Given the description of an element on the screen output the (x, y) to click on. 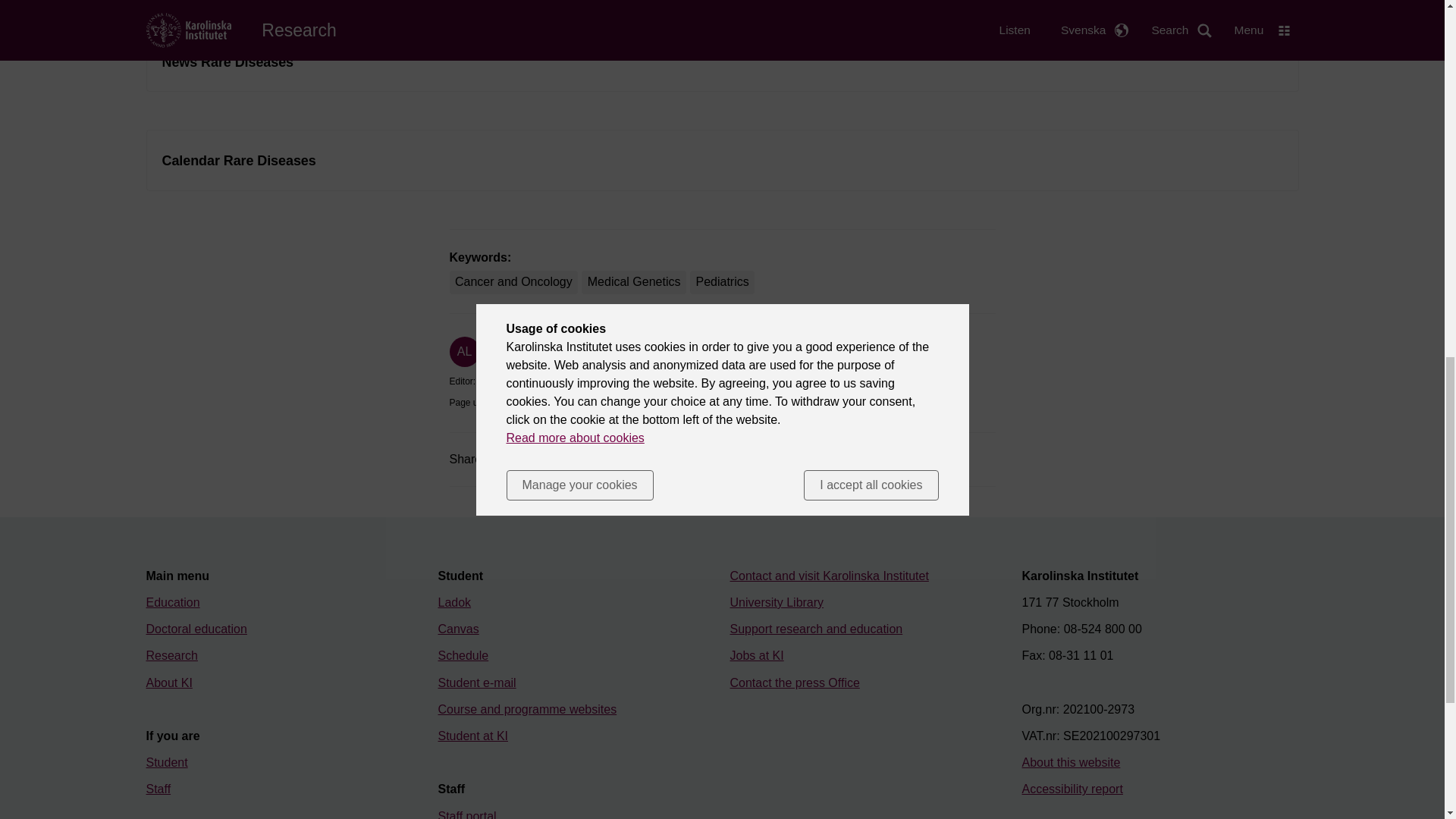
Ladok (454, 602)
Student (166, 762)
Student e-mail (477, 682)
Twitter (576, 459)
LinkedIn (629, 459)
Research (170, 655)
Doctoral education (195, 628)
Course and programme websites (527, 708)
Facebook (523, 459)
Anna Lindstrand (519, 358)
Education (172, 602)
About KI (168, 682)
Canvas (458, 628)
Staff (157, 788)
Lilian Pagrot (504, 381)
